Given the description of an element on the screen output the (x, y) to click on. 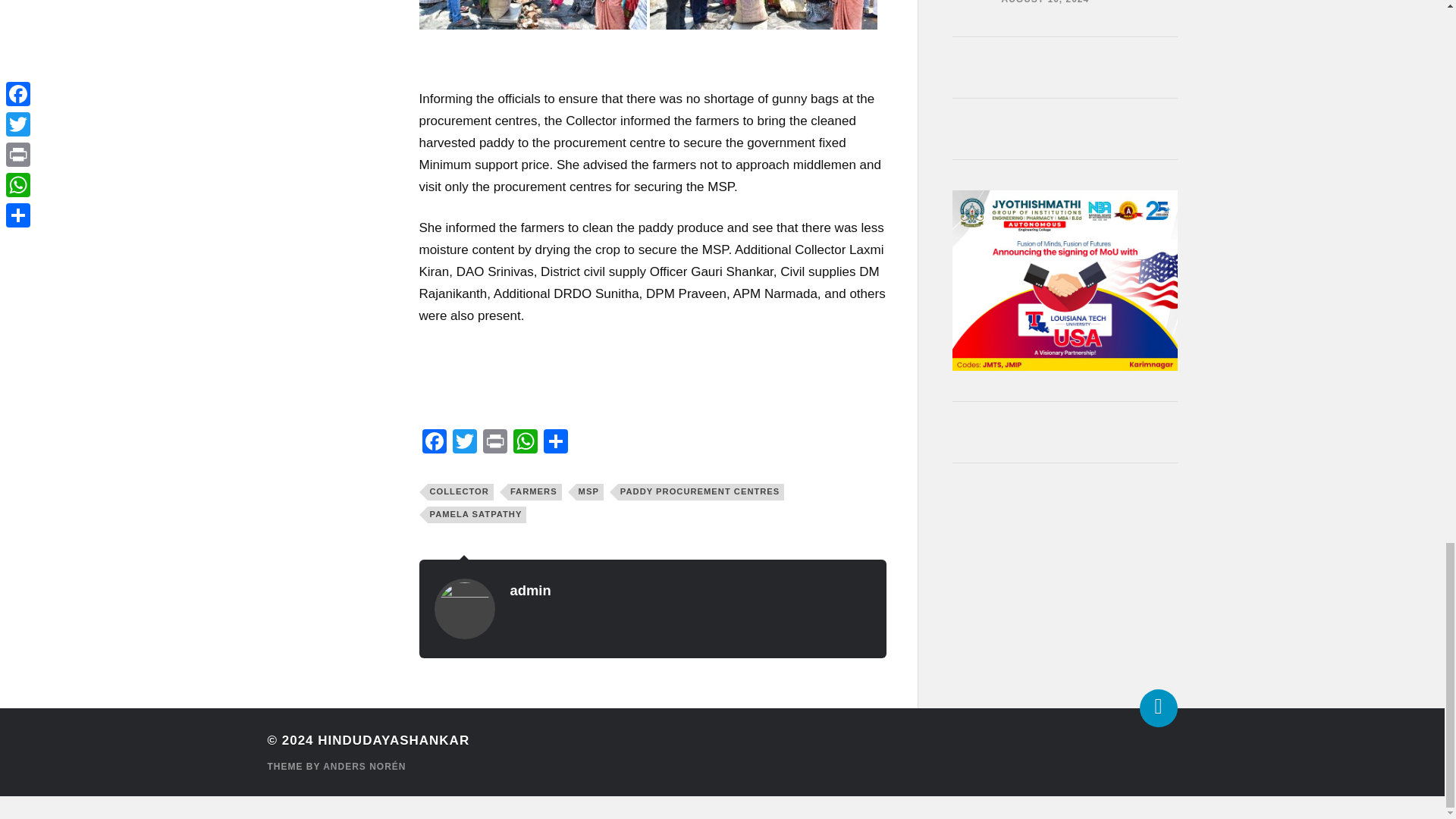
WhatsApp (524, 443)
Twitter (463, 443)
COLLECTOR (460, 492)
Twitter (463, 443)
Print (494, 443)
Facebook (433, 443)
Print (494, 443)
Facebook (433, 443)
WhatsApp (524, 443)
